Given the description of an element on the screen output the (x, y) to click on. 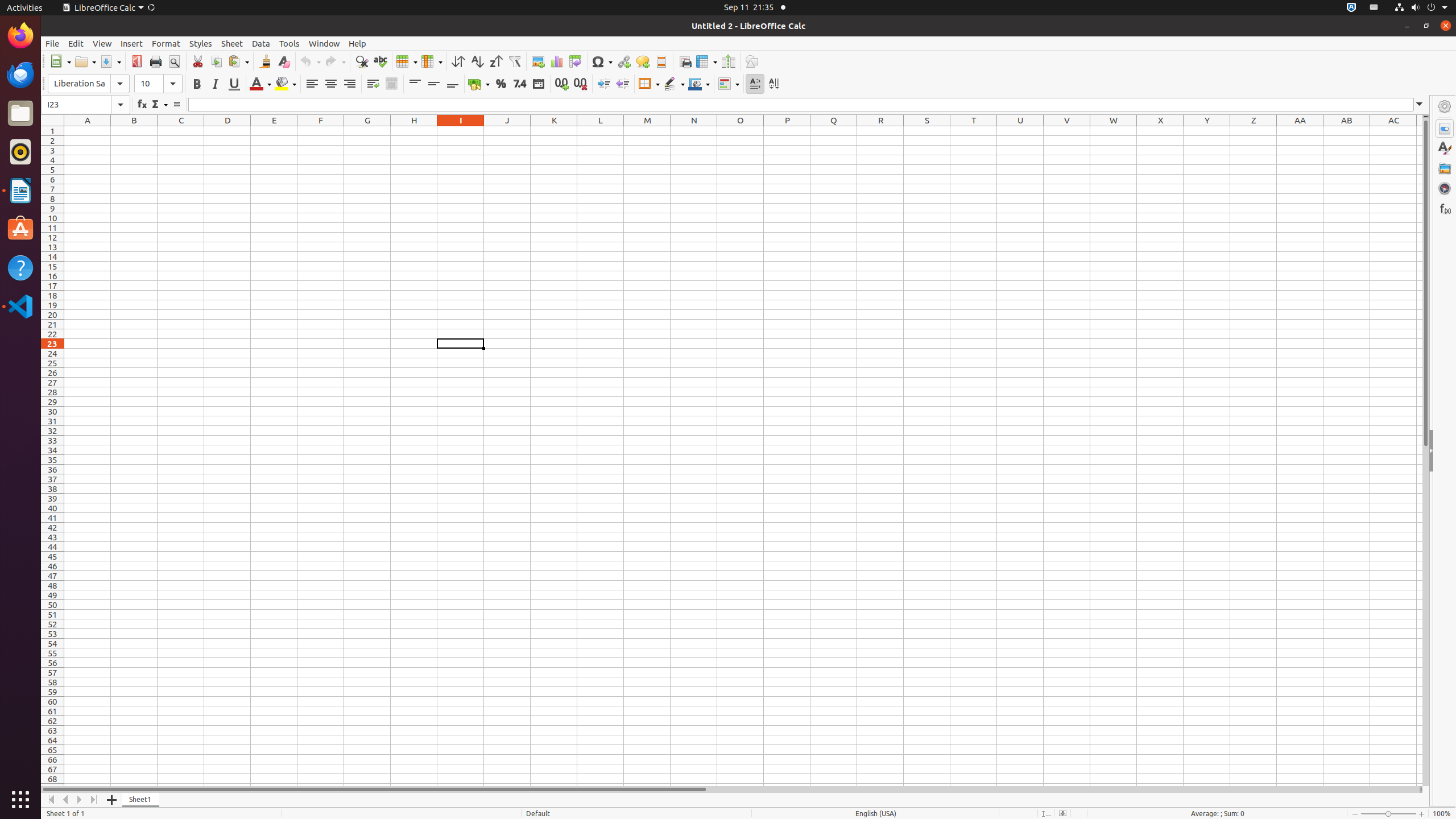
Open Element type: push-button (84, 61)
Print Element type: push-button (155, 61)
View Element type: menu (102, 43)
AD1 Element type: table-cell (1419, 130)
Sort Element type: push-button (457, 61)
